Given the description of an element on the screen output the (x, y) to click on. 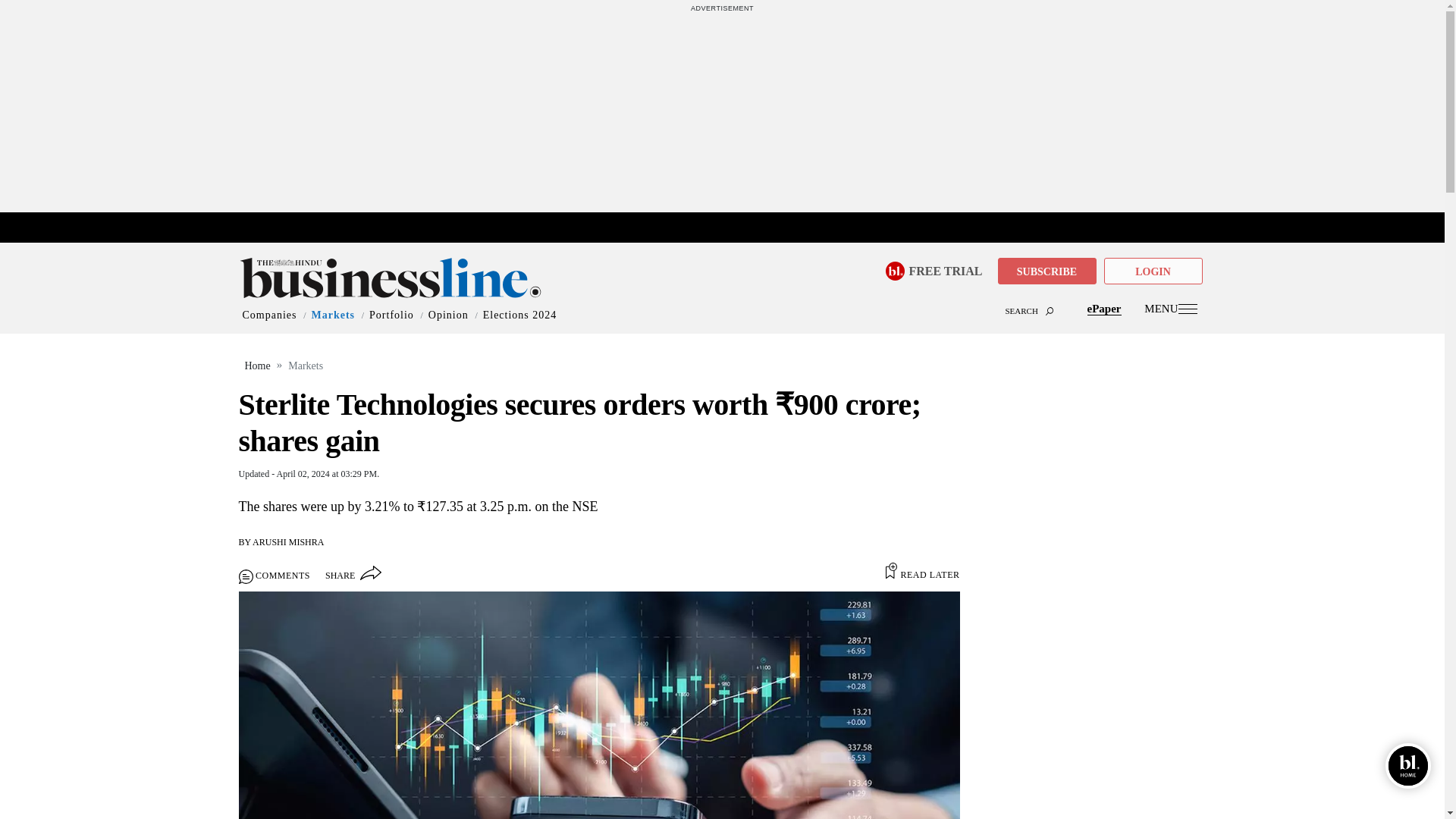
ePaper (1104, 308)
marketupdate (729, 228)
Portfolio (391, 315)
LOGIN (1152, 270)
SEARCH (721, 295)
SUBSCRIBE (1046, 271)
FREE TRIAL (944, 270)
MENU (1170, 308)
Markets (333, 315)
SUBSCRIBE (1046, 270)
Companies (270, 315)
Elections 2024 (520, 315)
FREE TRIAL (938, 269)
